Given the description of an element on the screen output the (x, y) to click on. 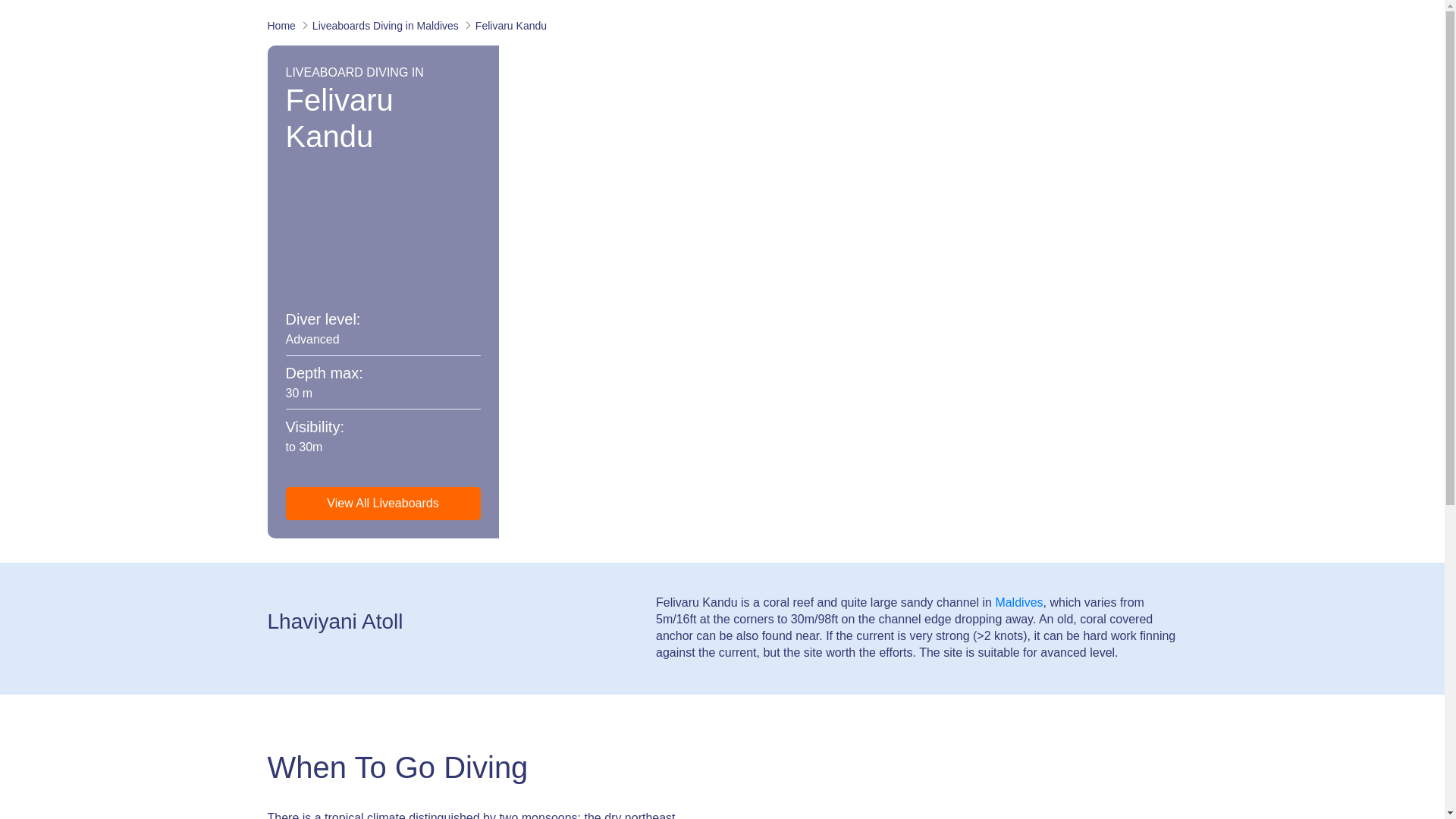
Home (282, 25)
Maldives (1018, 602)
View All Liveaboards (382, 503)
Liveaboards Diving in Maldives (385, 25)
